Given the description of an element on the screen output the (x, y) to click on. 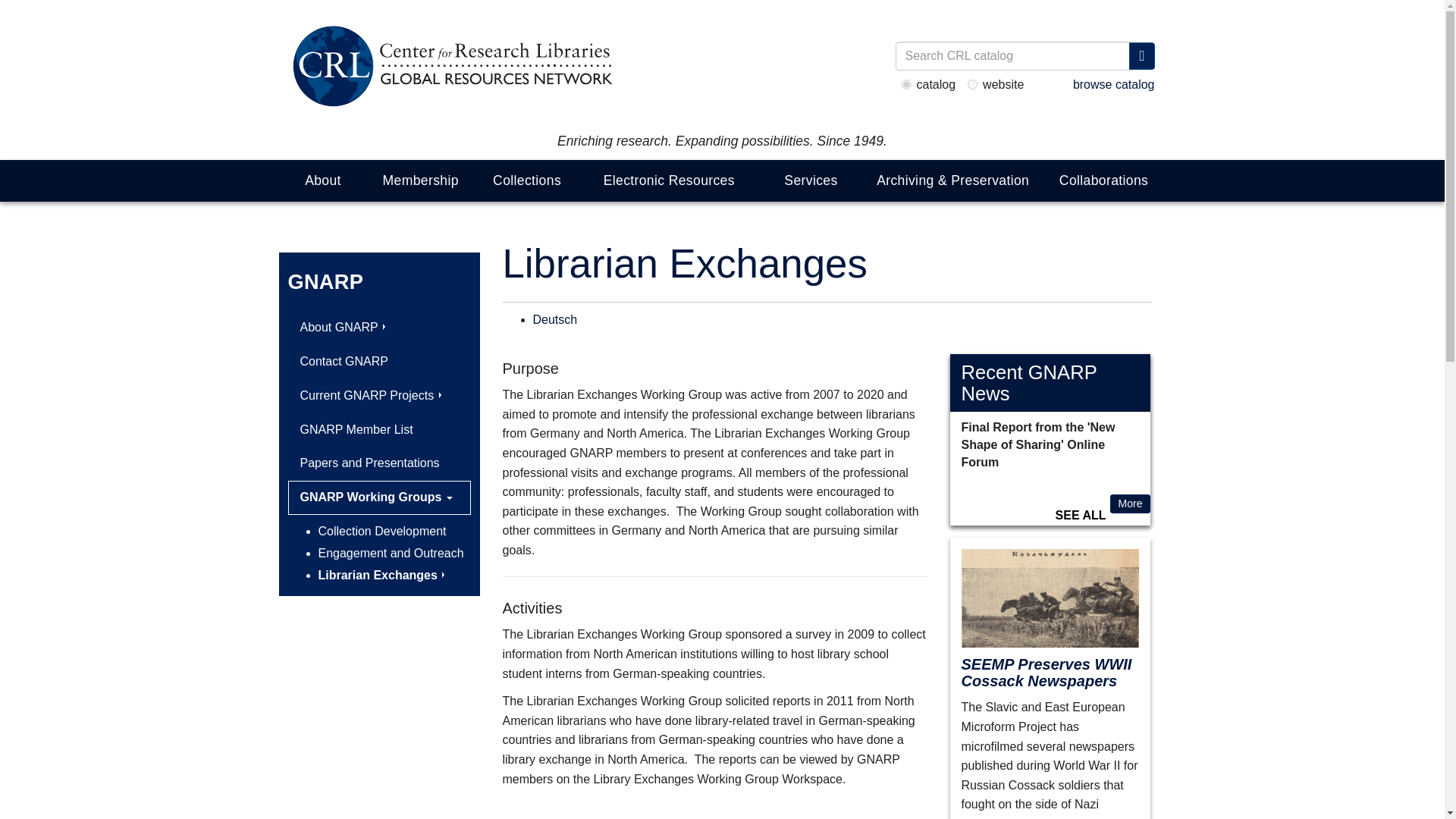
website (972, 84)
Membership (419, 180)
catalog (906, 84)
Home (450, 66)
browse catalog (1113, 83)
About (323, 180)
Collections (526, 180)
Page from April 1, 1943, issue of Kazachii Vestnik (1050, 598)
